Given the description of an element on the screen output the (x, y) to click on. 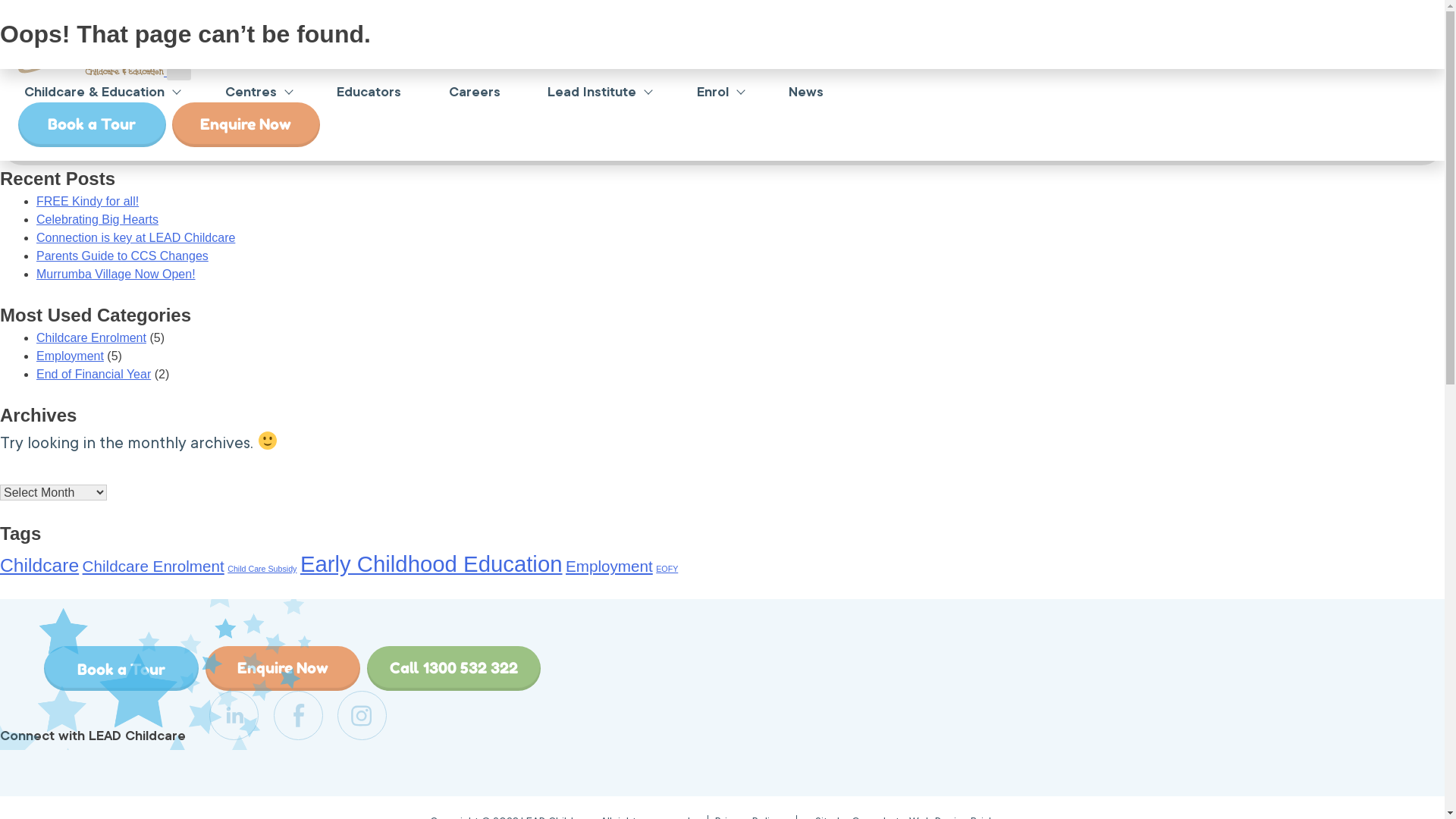
Childcare & Education Element type: text (94, 91)
Employment Element type: text (608, 565)
Book a Tour Element type: text (120, 668)
Enquire Now Element type: text (246, 124)
Employment Element type: text (69, 355)
EOFY Element type: text (666, 568)
FREE Kindy for all! Element type: text (87, 200)
Search Element type: text (722, 142)
Enquire Now Element type: text (282, 668)
Celebrating Big Hearts Element type: text (97, 219)
Childcare Element type: text (39, 565)
Book a Tour Element type: text (92, 124)
Child Care Subsidy Element type: text (261, 568)
Childcare Enrolment Element type: text (153, 565)
Murrumba Village Now Open! Element type: text (115, 273)
Connection is key at LEAD Childcare Element type: text (135, 237)
Call 1300 532 322 Element type: text (453, 668)
Lead Institute Element type: text (591, 91)
End of Financial Year Element type: text (93, 373)
Enrol Element type: text (712, 91)
Early Childhood Education Element type: text (431, 563)
Educators Element type: text (368, 91)
Centres Element type: text (250, 91)
Careers Element type: text (474, 91)
Childcare Enrolment Element type: text (91, 337)
Parents Guide to CCS Changes Element type: text (122, 255)
News Element type: text (805, 91)
